Given the description of an element on the screen output the (x, y) to click on. 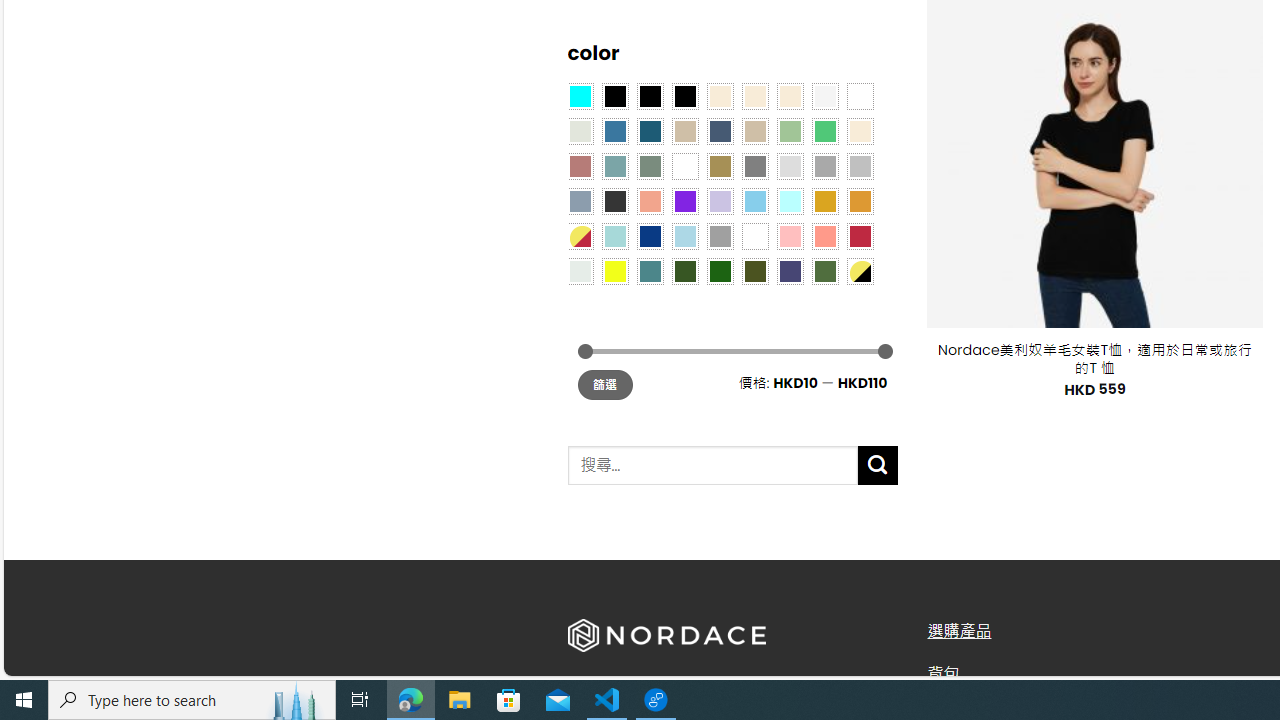
Dull Nickle (579, 270)
